Given the description of an element on the screen output the (x, y) to click on. 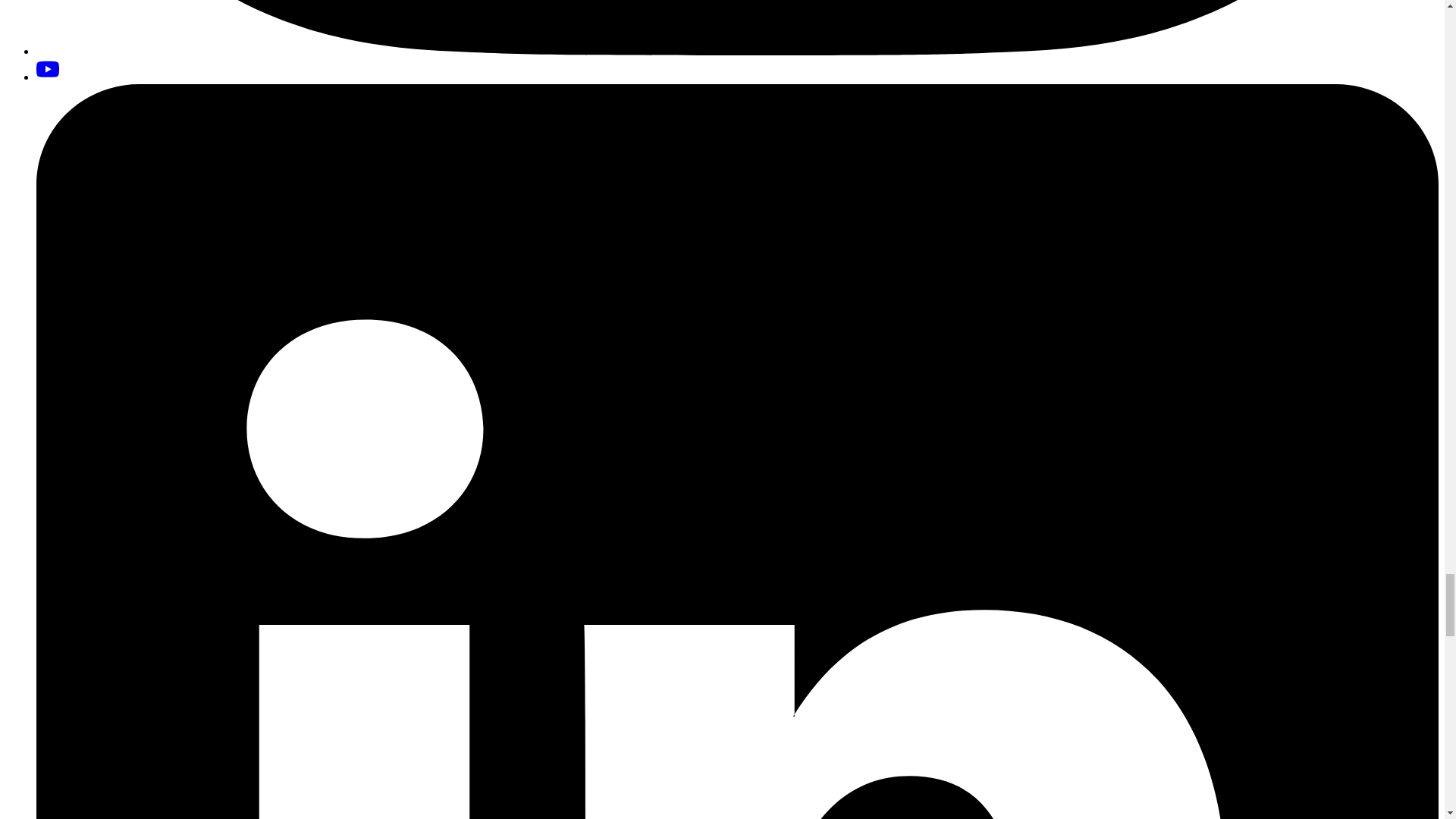
YouTube (47, 69)
